Given the description of an element on the screen output the (x, y) to click on. 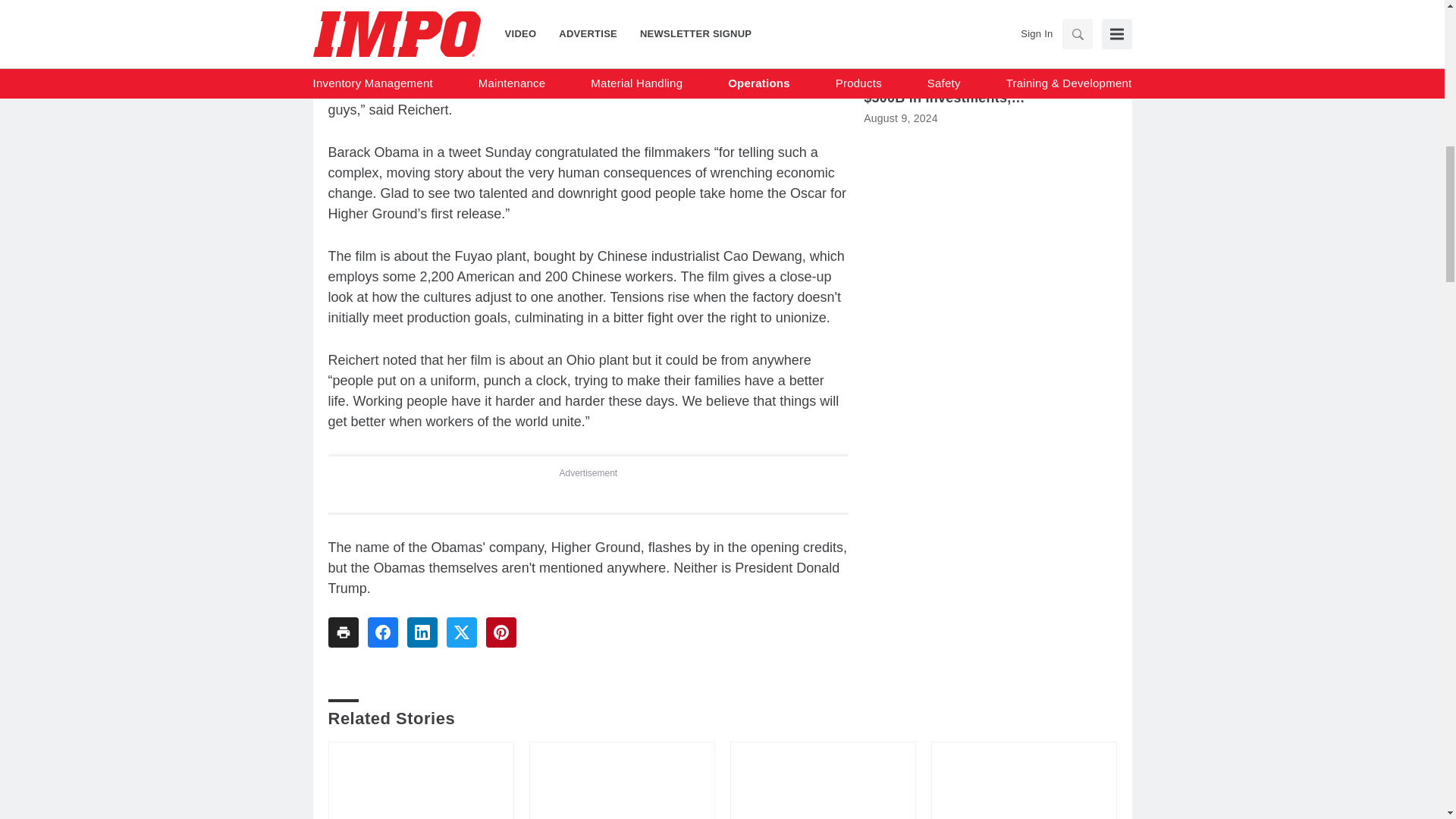
Share To print (342, 632)
Share To linkedin (421, 632)
Share To pinterest (499, 632)
Share To facebook (381, 632)
Share To twitter (460, 632)
